Given the description of an element on the screen output the (x, y) to click on. 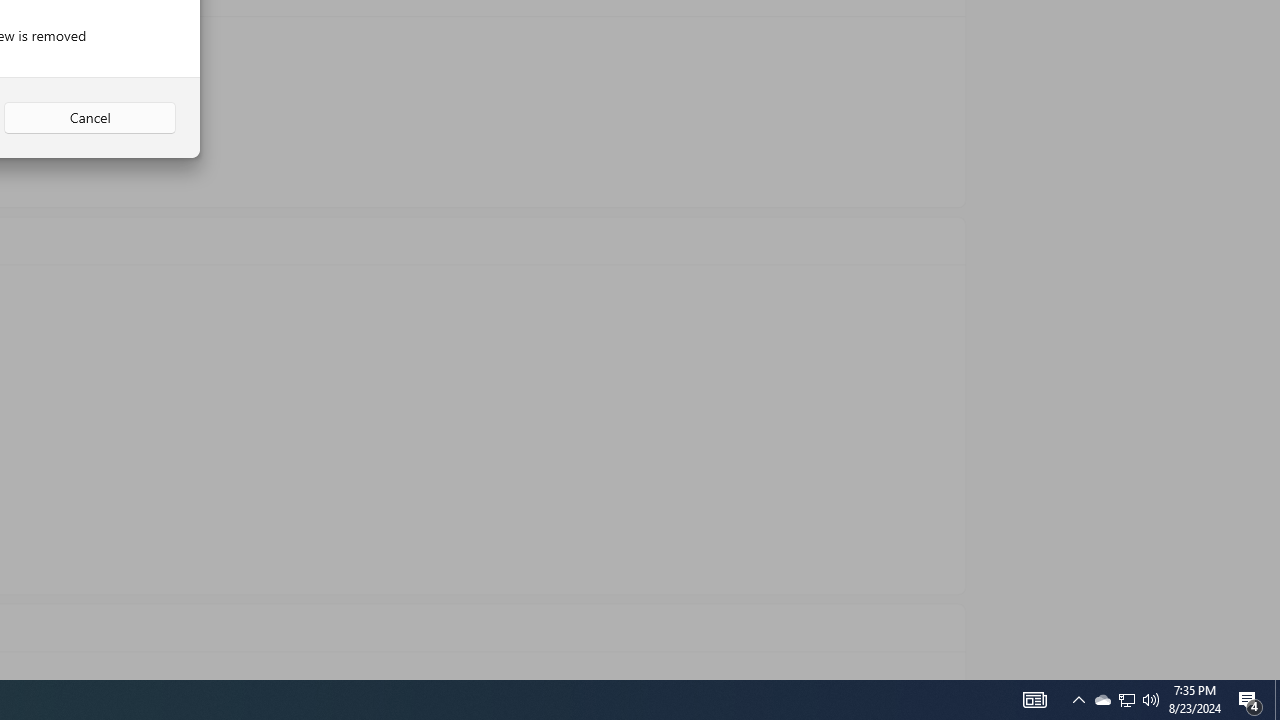
Cancel (89, 117)
